Given the description of an element on the screen output the (x, y) to click on. 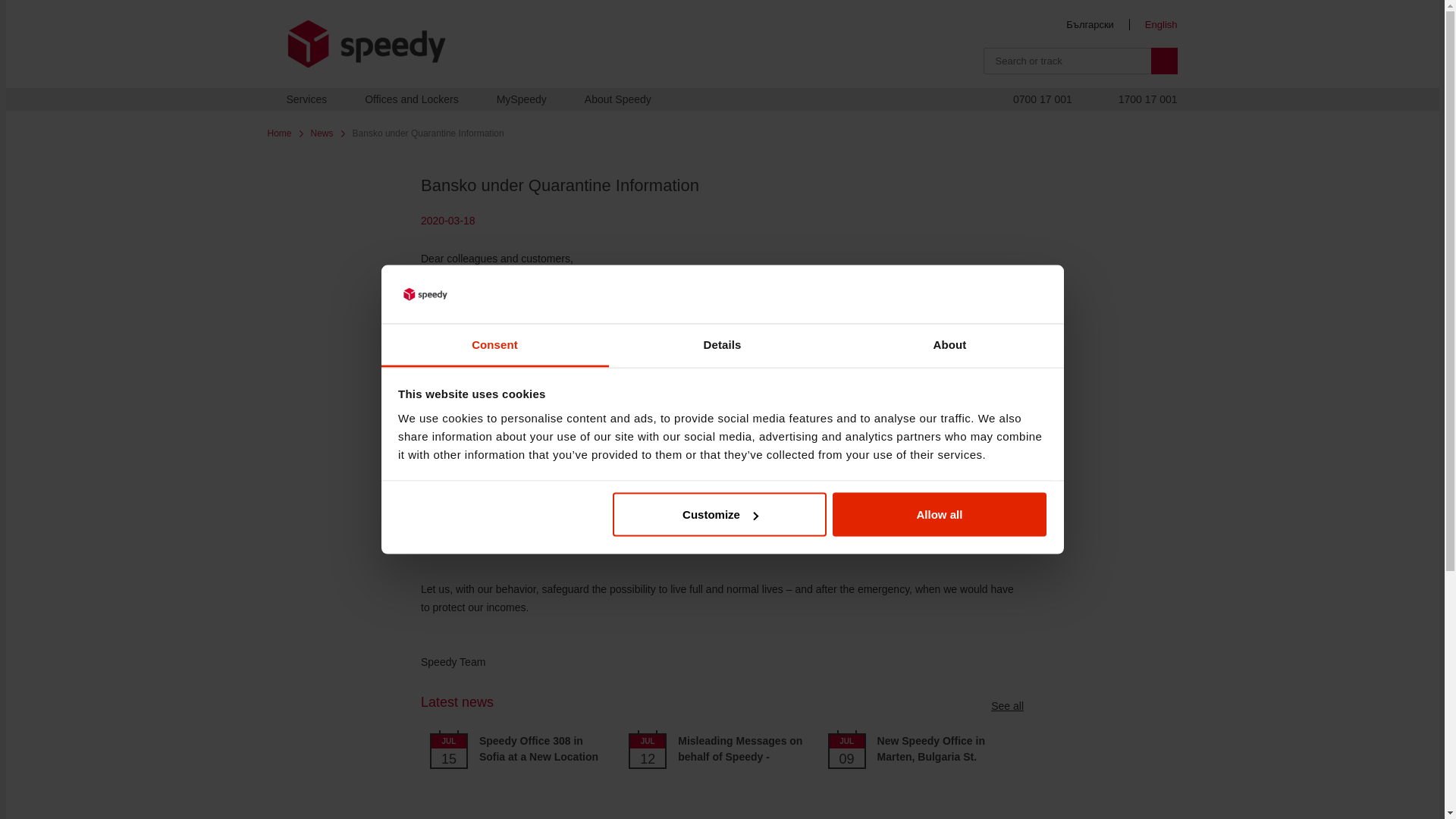
Customize (719, 515)
About (948, 344)
Allow all (939, 515)
Details (721, 344)
Consent (494, 344)
